Given the description of an element on the screen output the (x, y) to click on. 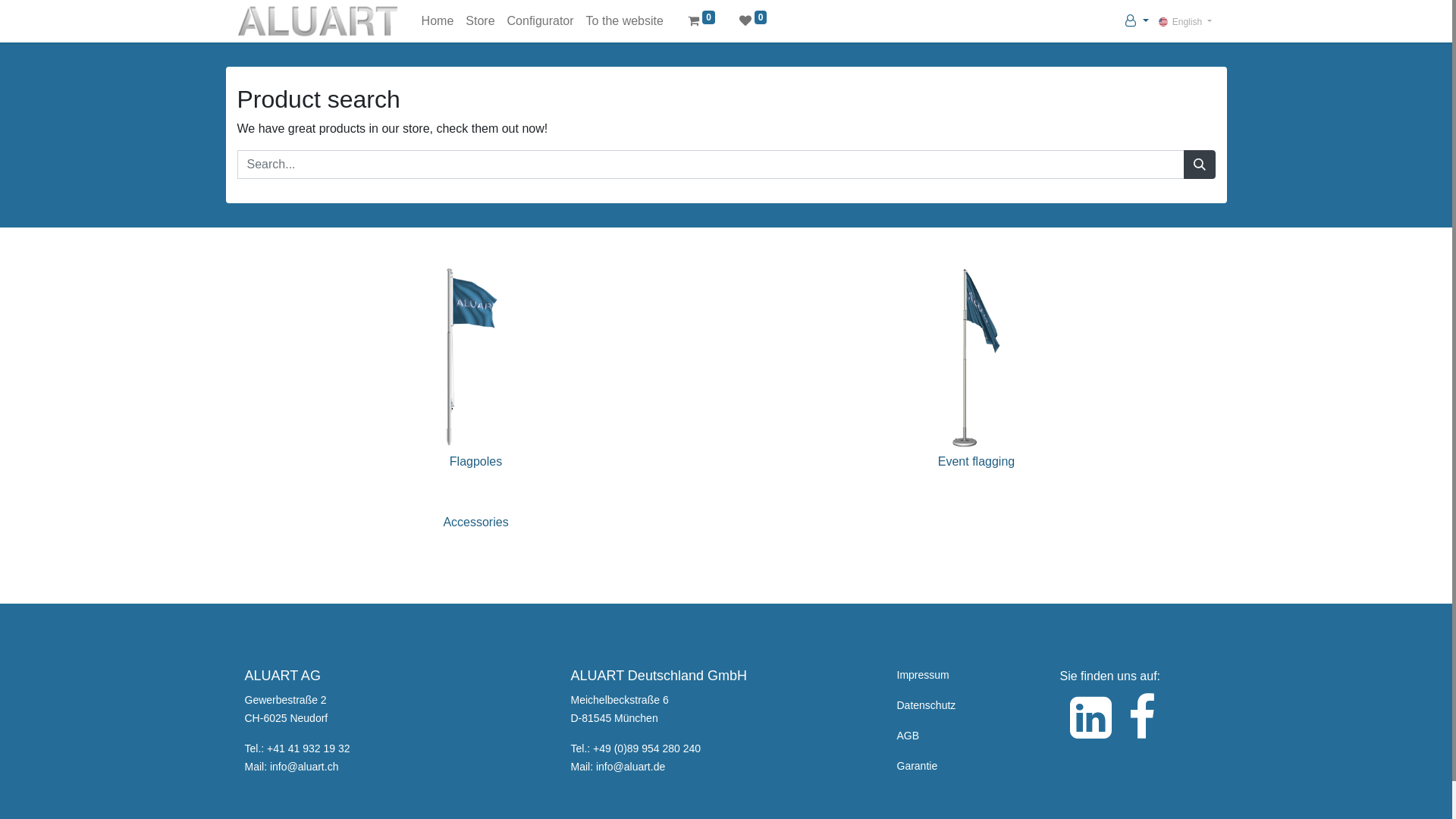
0 Element type: text (753, 21)
0 Element type: text (701, 21)
Garantie Element type: text (916, 765)
localhost Element type: hover (316, 21)
Search Element type: hover (1198, 164)
Flagpoles Element type: text (475, 409)
Event flagging Element type: text (976, 409)
Home Element type: text (437, 21)
Datenschutz Element type: text (925, 704)
Configurator Element type: text (540, 21)
AGB Element type: text (907, 734)
English Element type: text (1184, 21)
To the website Element type: text (624, 21)
Accessories Element type: text (475, 530)
Impressum Element type: text (922, 674)
Store Element type: text (479, 21)
